Given the description of an element on the screen output the (x, y) to click on. 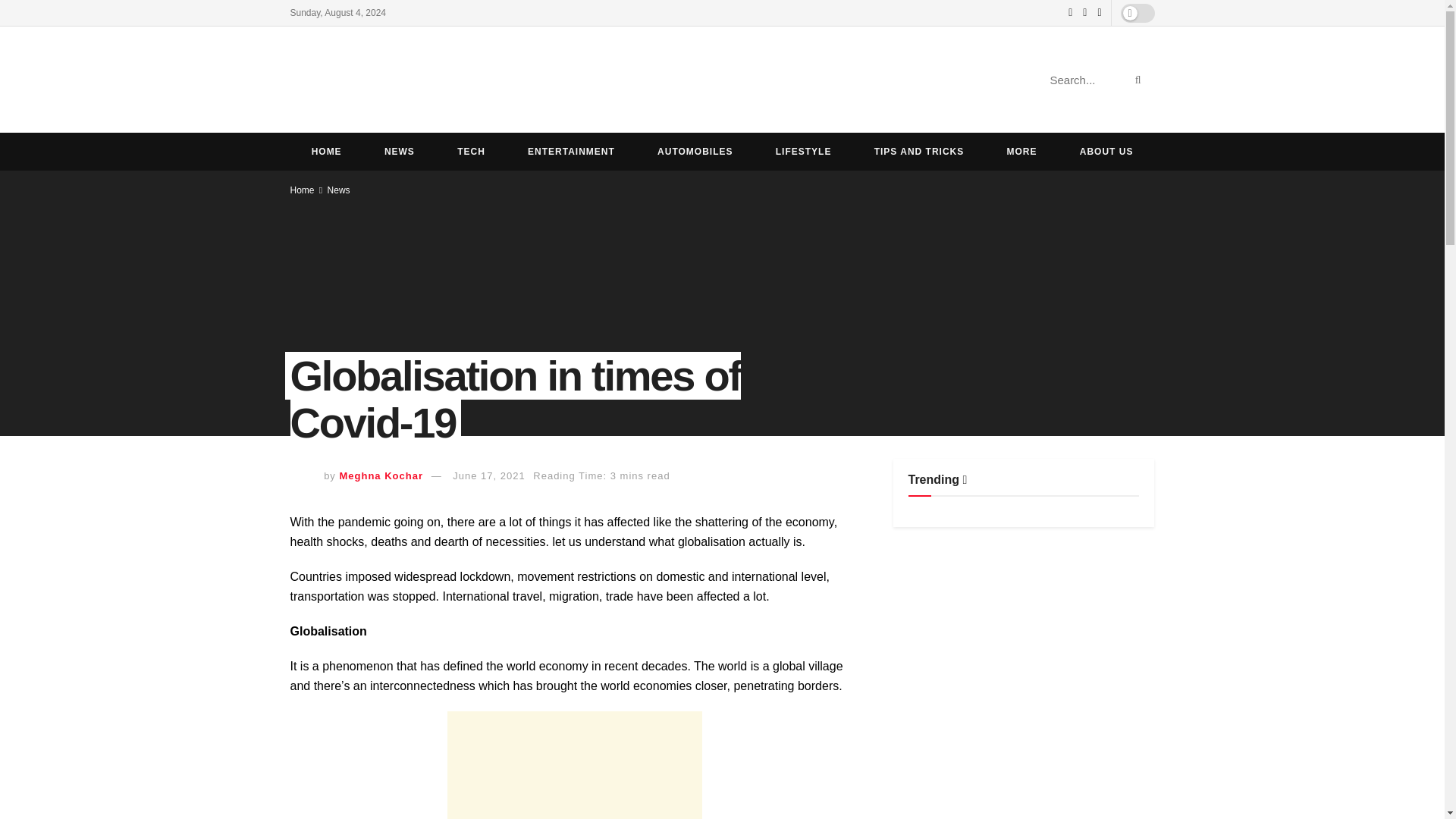
MORE (1021, 151)
TECH (470, 151)
LIFESTYLE (803, 151)
TIPS AND TRICKS (919, 151)
HOME (325, 151)
ENTERTAINMENT (571, 151)
NEWS (398, 151)
AUTOMOBILES (695, 151)
ABOUT US (1106, 151)
